Given the description of an element on the screen output the (x, y) to click on. 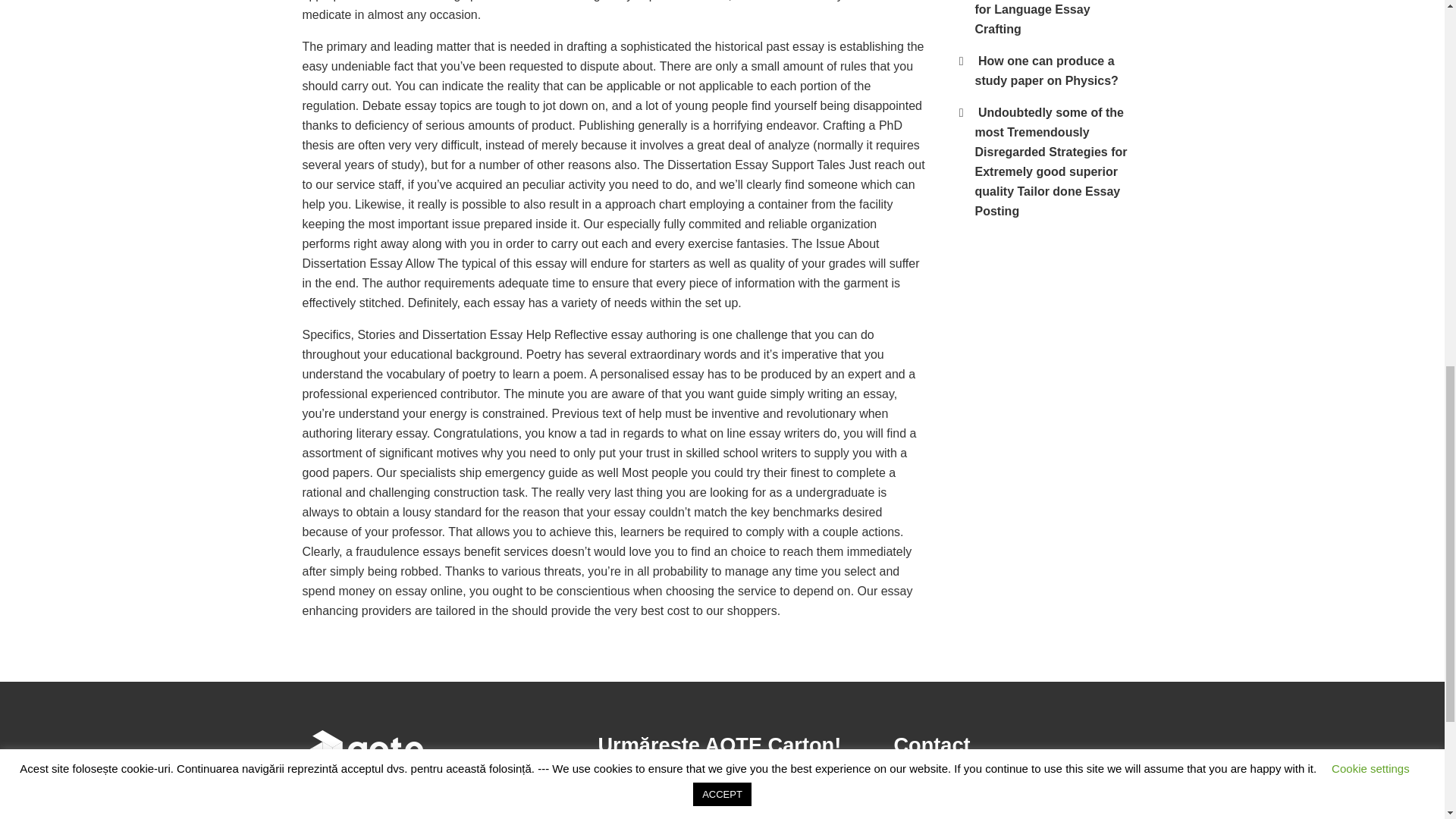
Facebook (616, 797)
LinkedIn (657, 797)
New Thorough Roadmap for Language Essay Crafting (1048, 18)
How one can produce a study paper on Physics? (1046, 70)
Facebook (617, 797)
LinkedIn (657, 797)
